Given the description of an element on the screen output the (x, y) to click on. 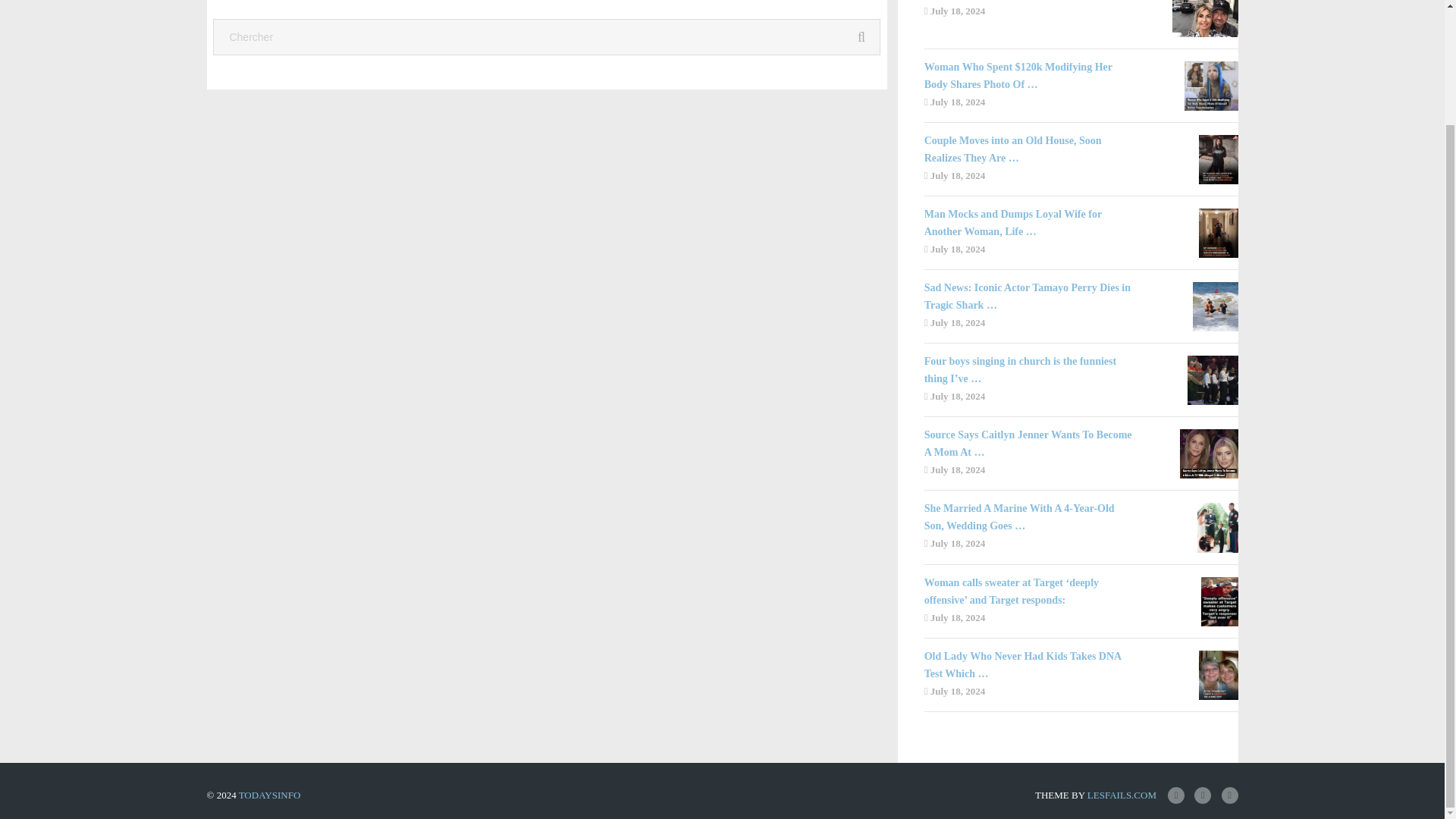
The reason Chuck Norris gave up acting (1030, 1)
The reason Chuck Norris gave up acting (1030, 1)
TODAYSINFO (269, 794)
